Given the description of an element on the screen output the (x, y) to click on. 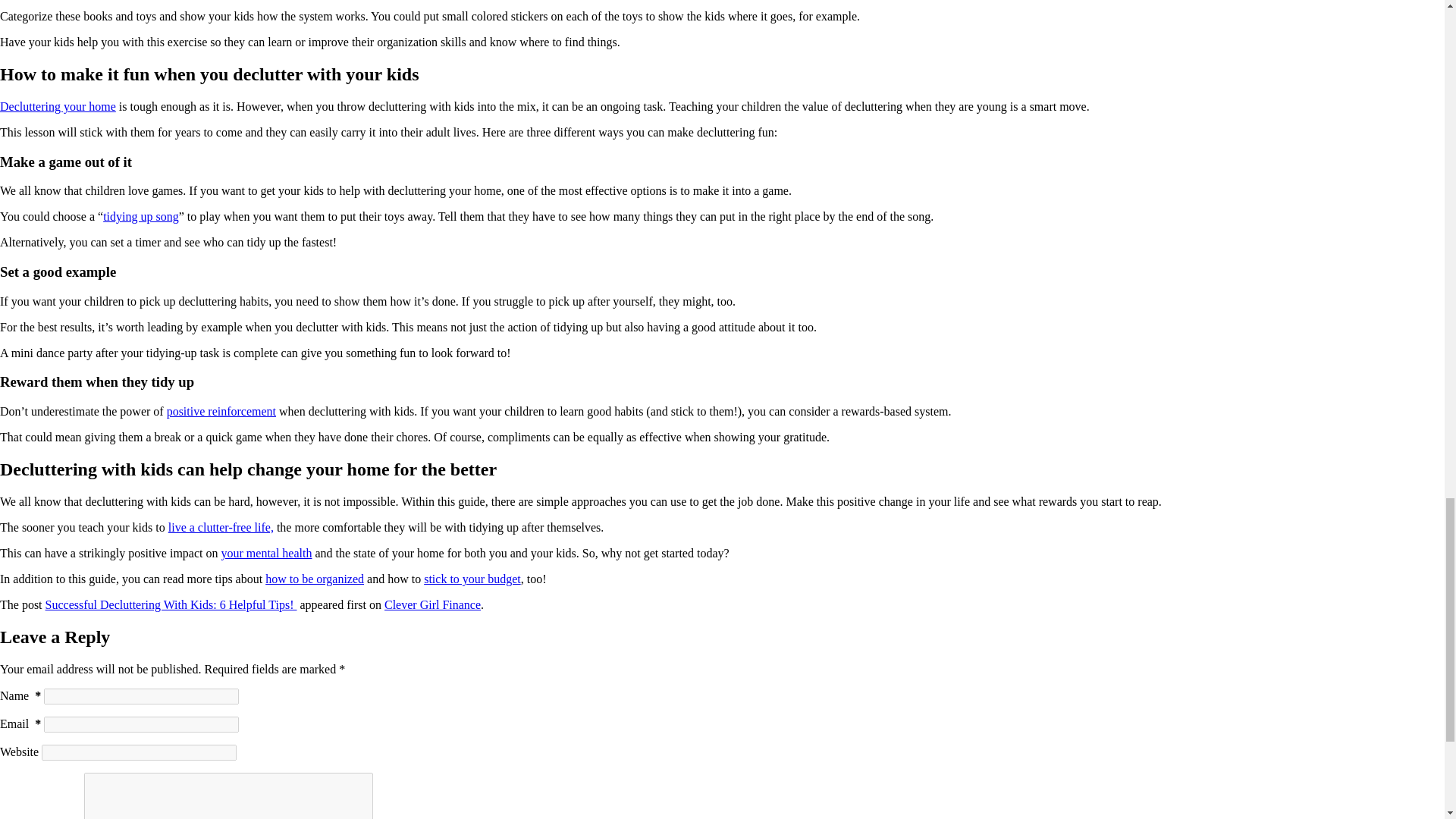
how to be organized (314, 578)
your mental health (267, 553)
stick to your budget (472, 578)
positive reinforcement (221, 410)
tidying up song (141, 215)
Decluttering your home (58, 106)
Clever Girl Finance (432, 604)
live a clutter-free life, (220, 526)
Successful Decluttering With Kids: 6 Helpful Tips!  (171, 604)
